Given the description of an element on the screen output the (x, y) to click on. 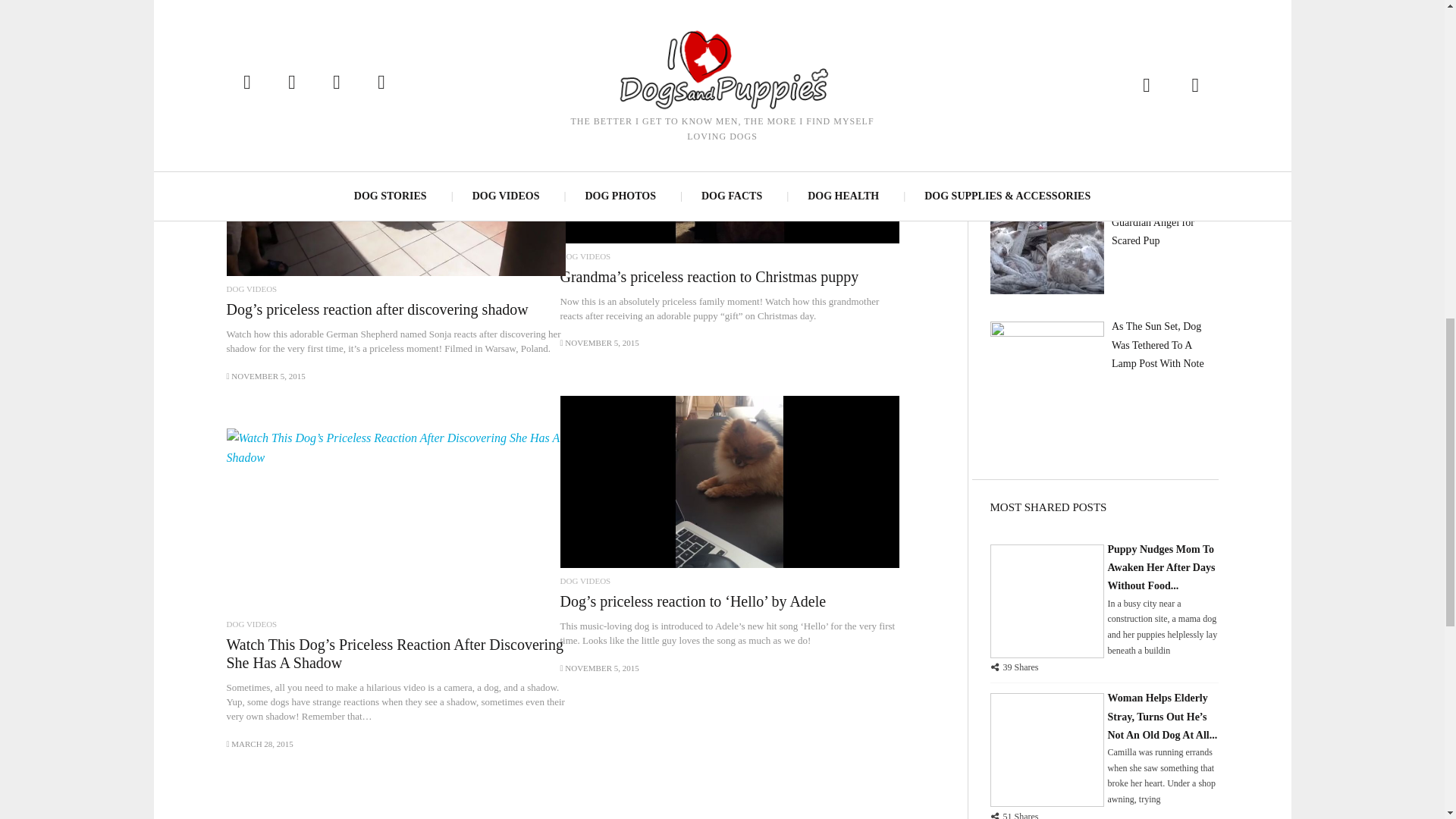
View all posts in Dog Videos (584, 581)
DOG VIDEOS (584, 256)
DOG VIDEOS (250, 289)
DOG VIDEOS (584, 581)
DOG VIDEOS (250, 623)
View all posts in Dog Videos (250, 289)
View all posts in Dog Videos (584, 256)
